Given the description of an element on the screen output the (x, y) to click on. 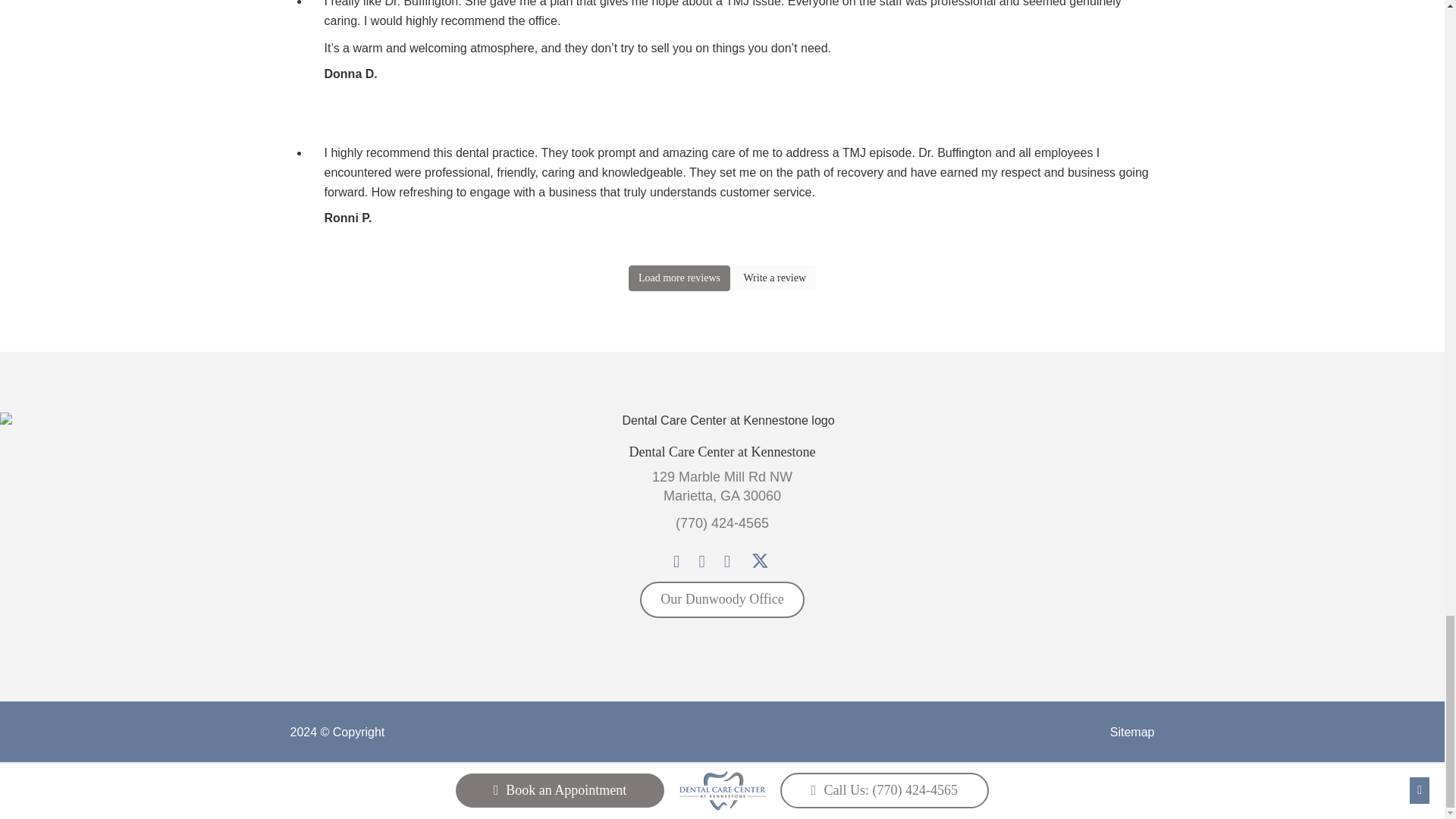
Get directions (722, 486)
